Given the description of an element on the screen output the (x, y) to click on. 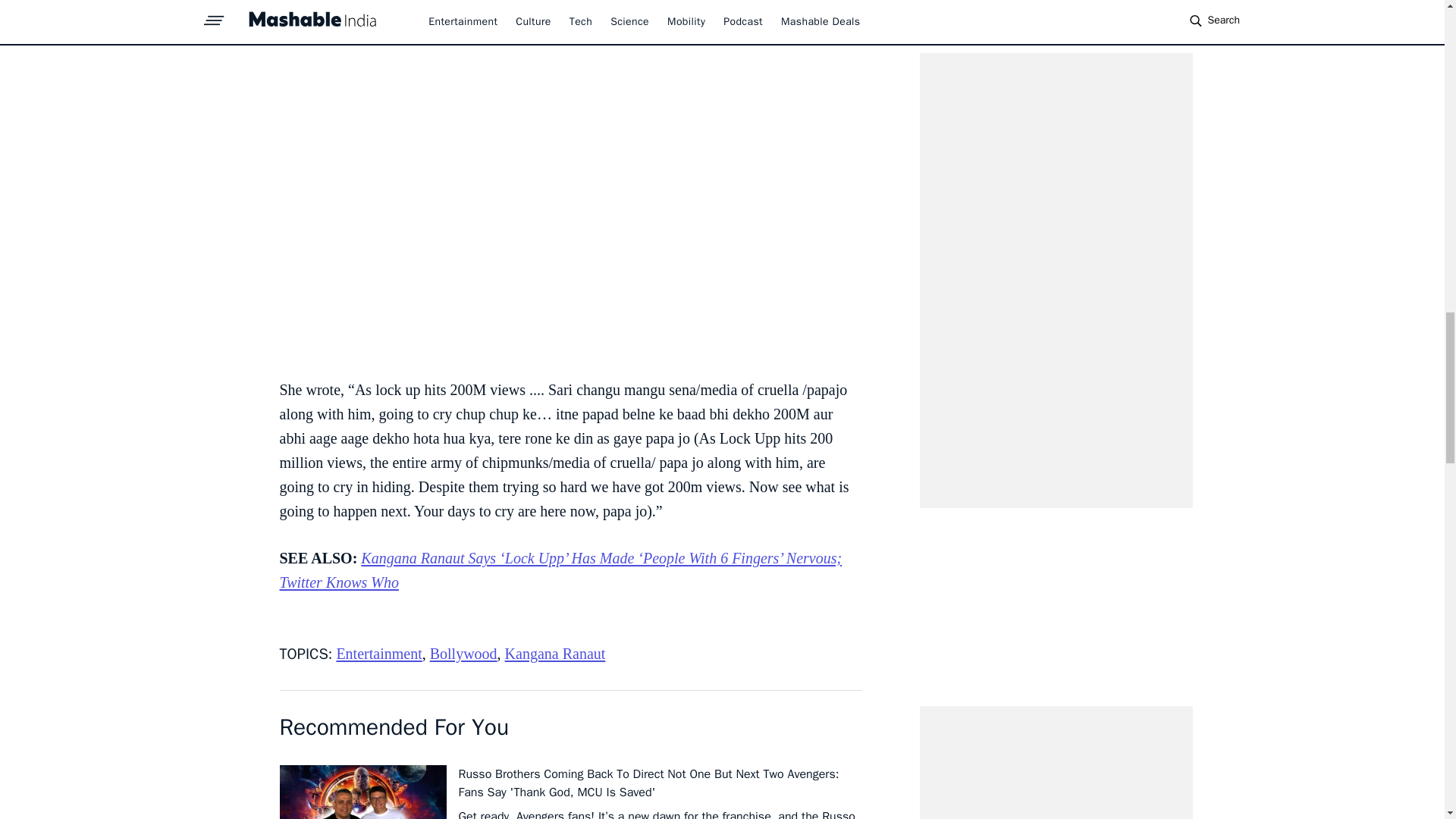
Entertainment (379, 653)
Bollywood (463, 653)
Kangana Ranaut (555, 653)
